Given the description of an element on the screen output the (x, y) to click on. 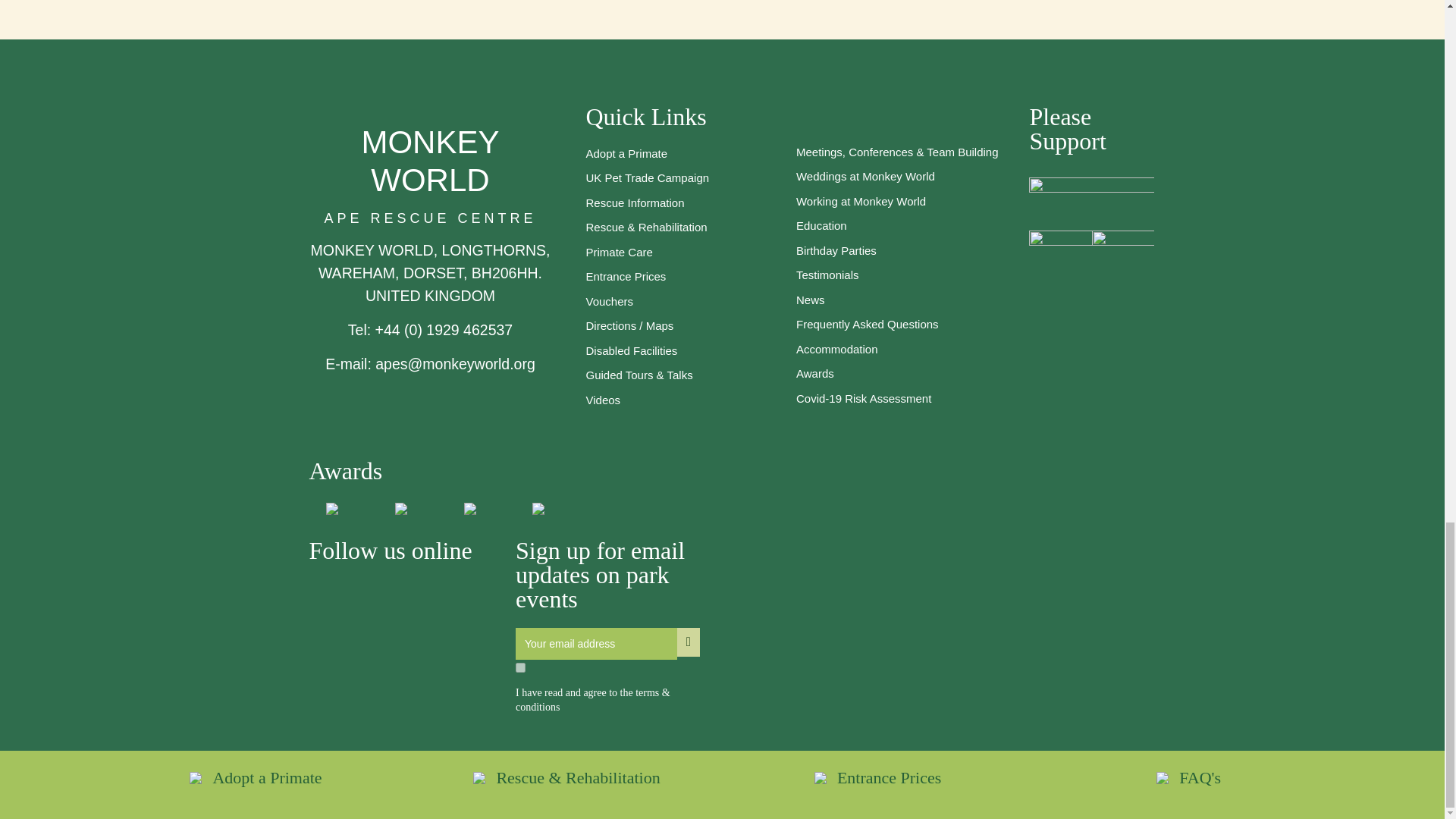
1 (520, 667)
title (390, 594)
facebook (355, 594)
title (425, 594)
twitter (320, 594)
